Given the description of an element on the screen output the (x, y) to click on. 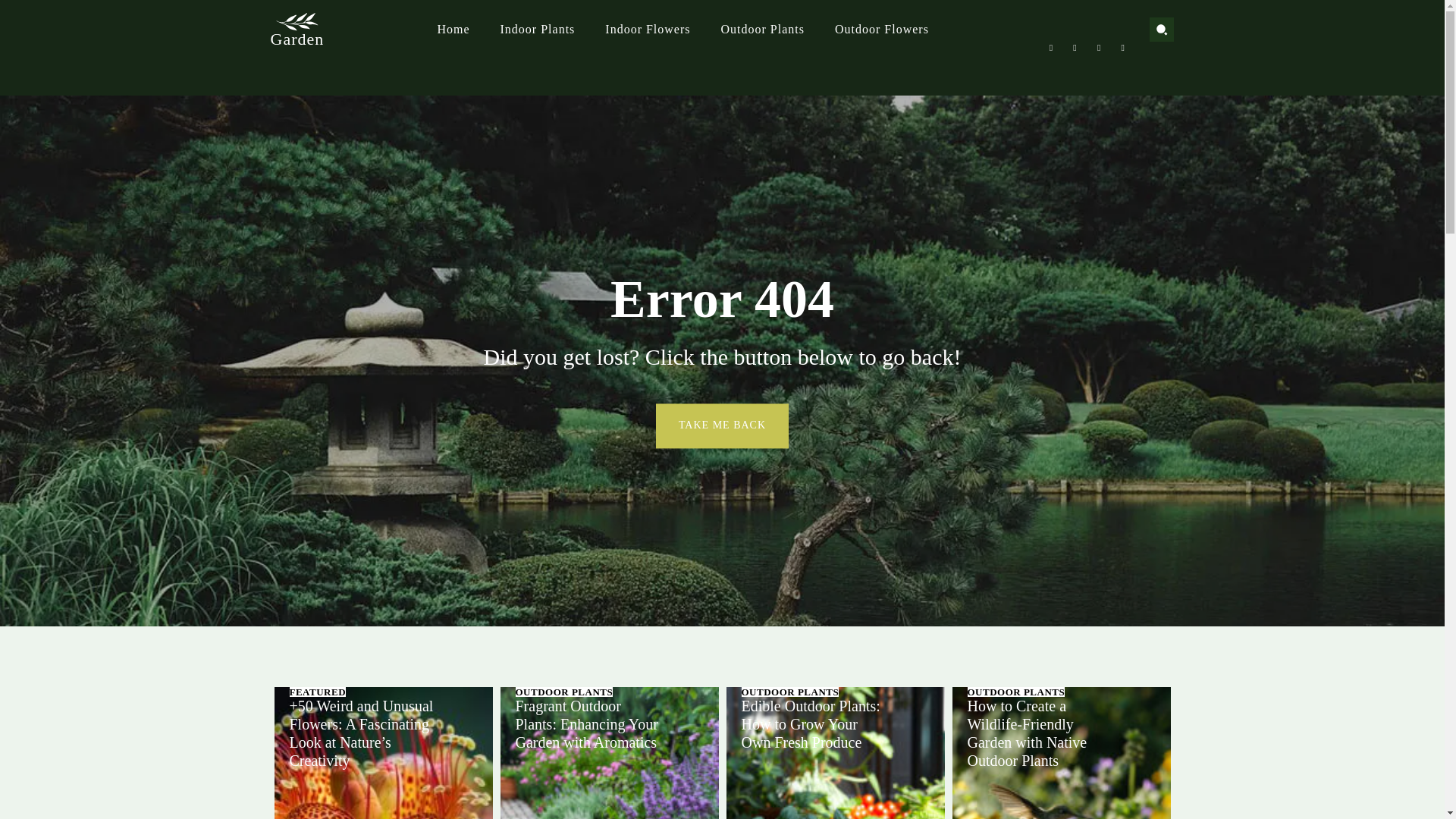
Twitter (1098, 47)
Outdoor Plants (762, 29)
Take me back (722, 425)
TAKE ME BACK (722, 425)
OUTDOOR PLANTS (563, 691)
Facebook (1050, 47)
Home (452, 29)
Edible Outdoor Plants: How to Grow Your Own Fresh Produce (835, 753)
Outdoor Flowers (882, 29)
Indoor Plants (537, 29)
